Given the description of an element on the screen output the (x, y) to click on. 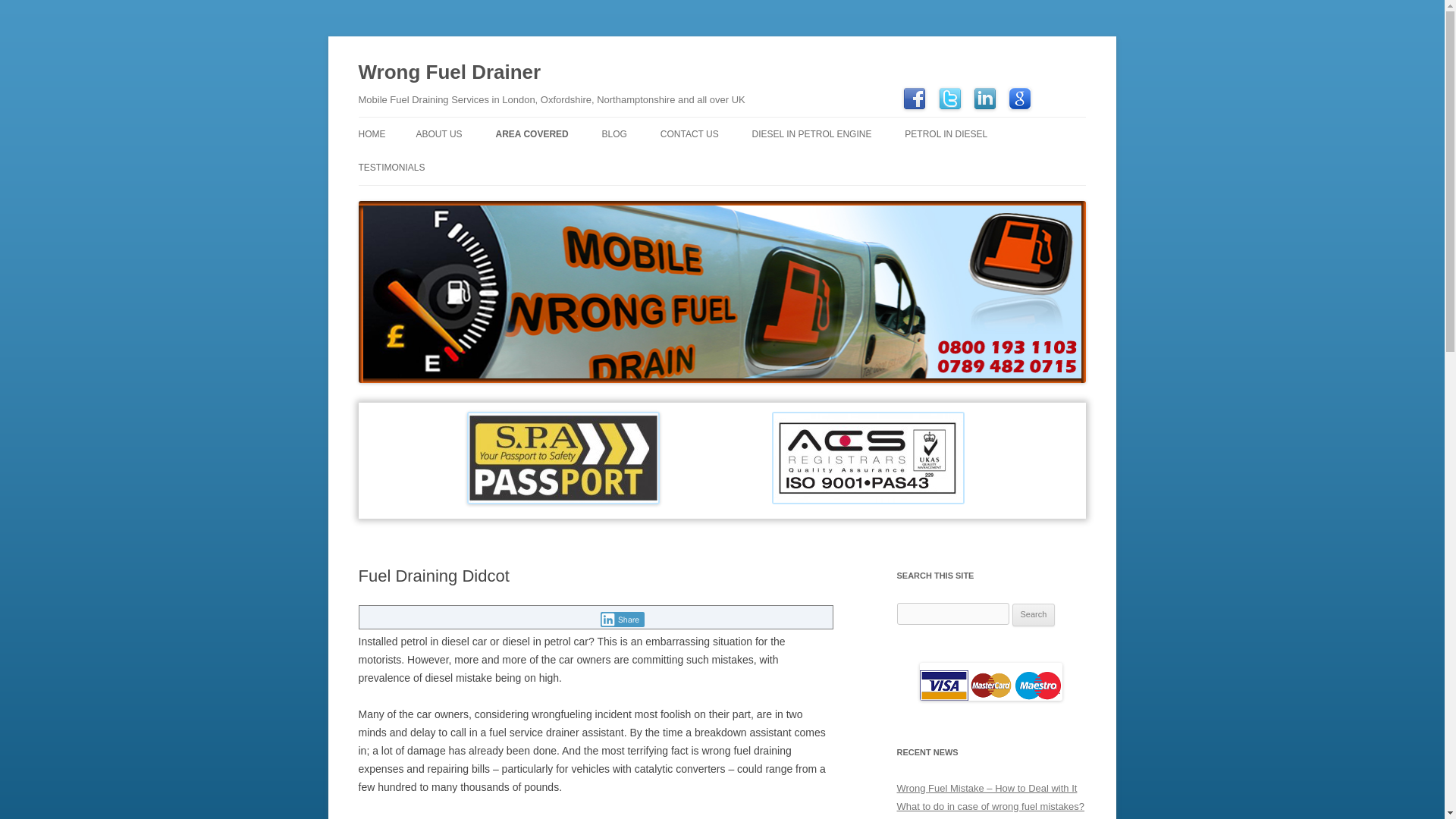
Wrong Fuel Drainer (449, 72)
AREA COVERED (531, 133)
Skip to content (757, 122)
Search (1033, 614)
Visa, Mastercard Maestro (991, 681)
Skip to content (757, 122)
Wrong Fuel Drainer (449, 72)
ABOUT US (437, 133)
